Given the description of an element on the screen output the (x, y) to click on. 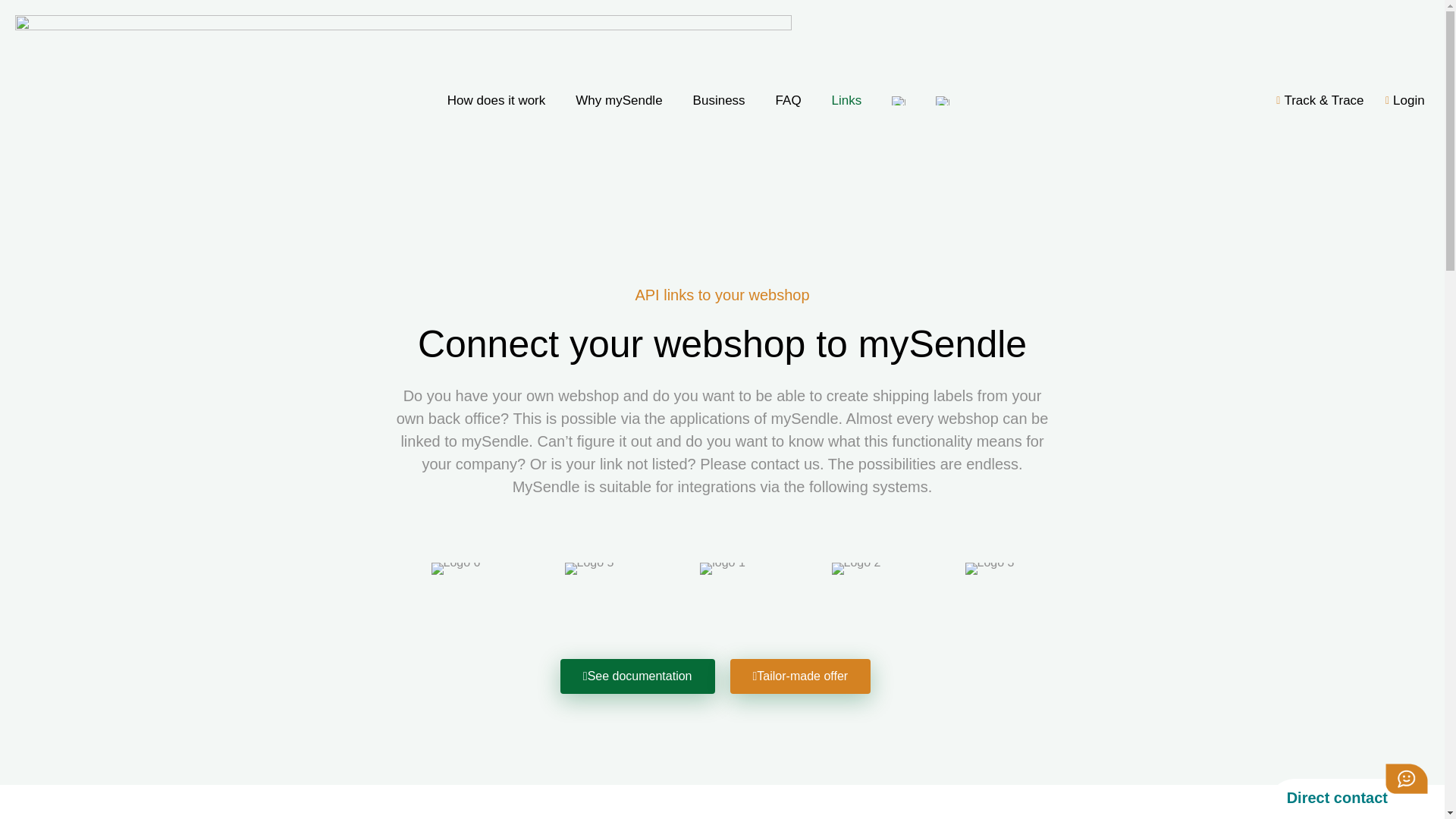
See documentation (637, 676)
Login (1400, 100)
How does it work (496, 100)
Tailor-made offer (799, 676)
Business (719, 100)
FAQ (788, 100)
Why mySendle (618, 100)
Links (846, 100)
